Given the description of an element on the screen output the (x, y) to click on. 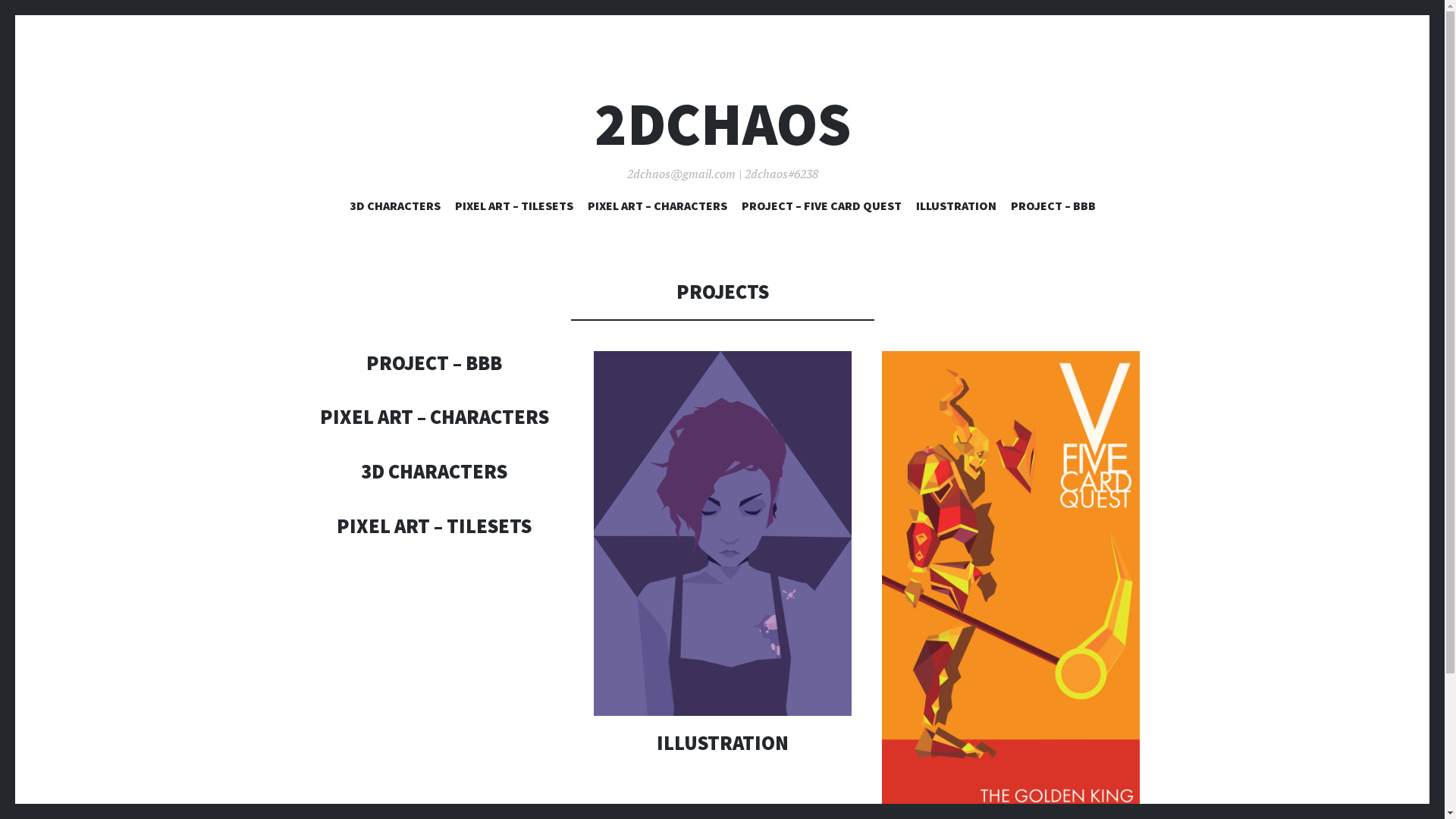
ILLUSTRATION Element type: text (956, 208)
ILLUSTRATION Element type: text (722, 742)
3D CHARACTERS Element type: text (433, 470)
3D CHARACTERS Element type: text (393, 208)
SKIP TO CONTENT Element type: text (721, 197)
2DCHAOS Element type: text (722, 123)
